Given the description of an element on the screen output the (x, y) to click on. 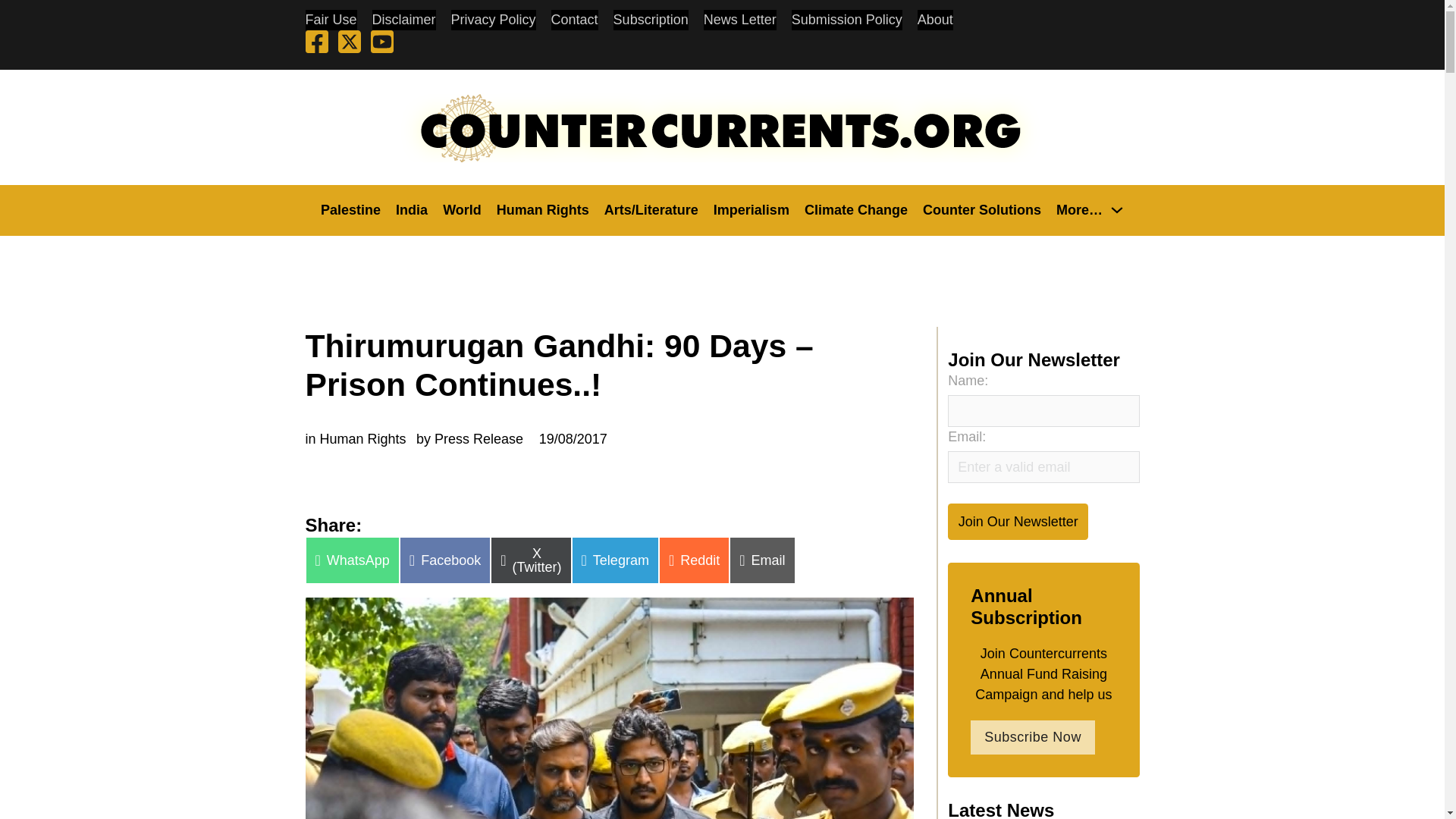
Submission Policy (847, 19)
Imperialism (751, 209)
Contact (574, 19)
Human Rights (542, 209)
Palestine (350, 209)
Privacy Policy (493, 19)
About (935, 19)
Disclaimer (403, 19)
Climate Change (856, 209)
Subscription (650, 19)
News Letter (739, 19)
Counter Solutions (982, 209)
Join Our Newsletter (1017, 520)
India (412, 209)
World (461, 209)
